Given the description of an element on the screen output the (x, y) to click on. 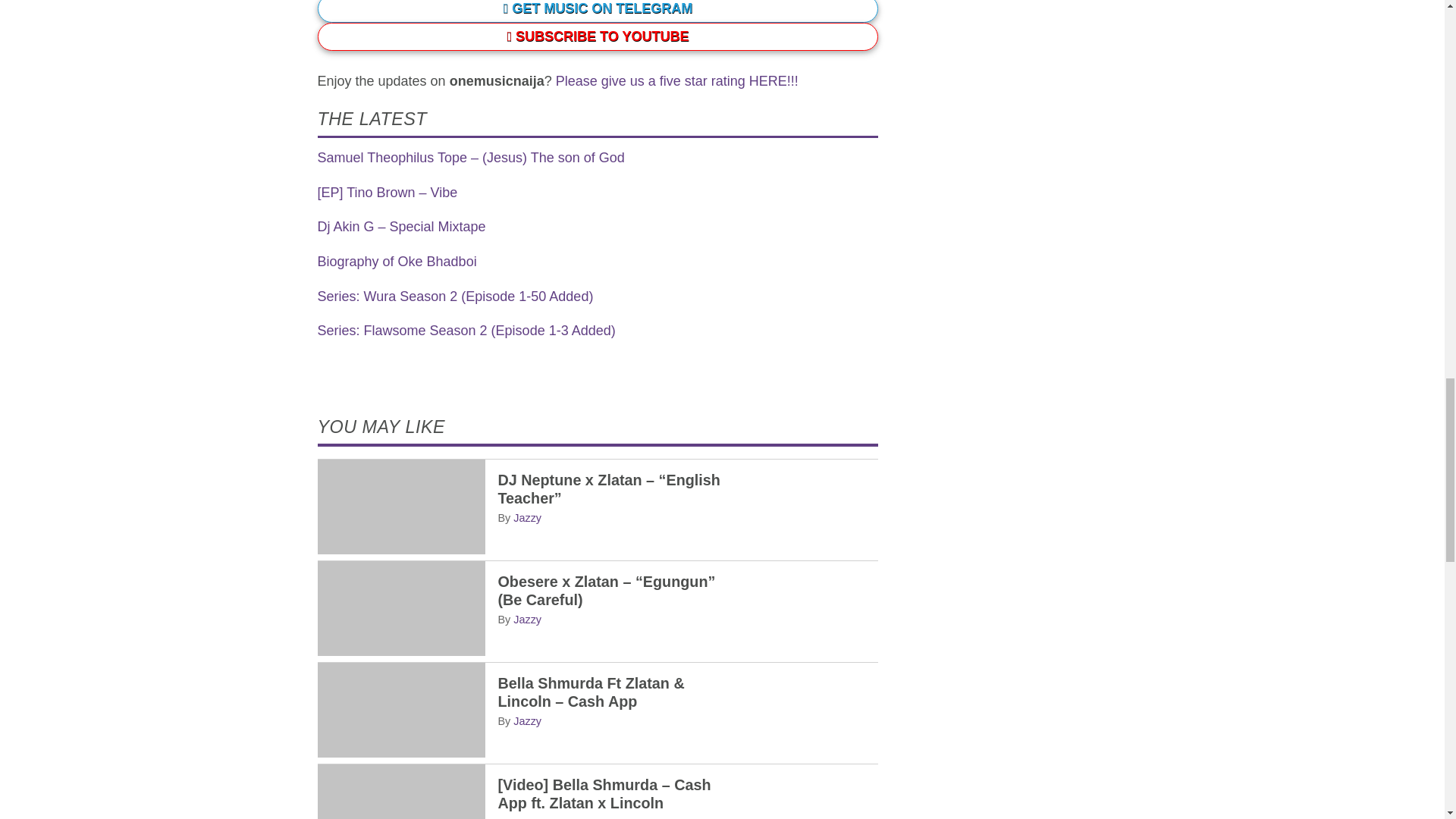
Posts by Jazzy (527, 720)
Posts by Jazzy (527, 517)
Posts by Jazzy (527, 619)
Posts by Jazzy (527, 817)
